Given the description of an element on the screen output the (x, y) to click on. 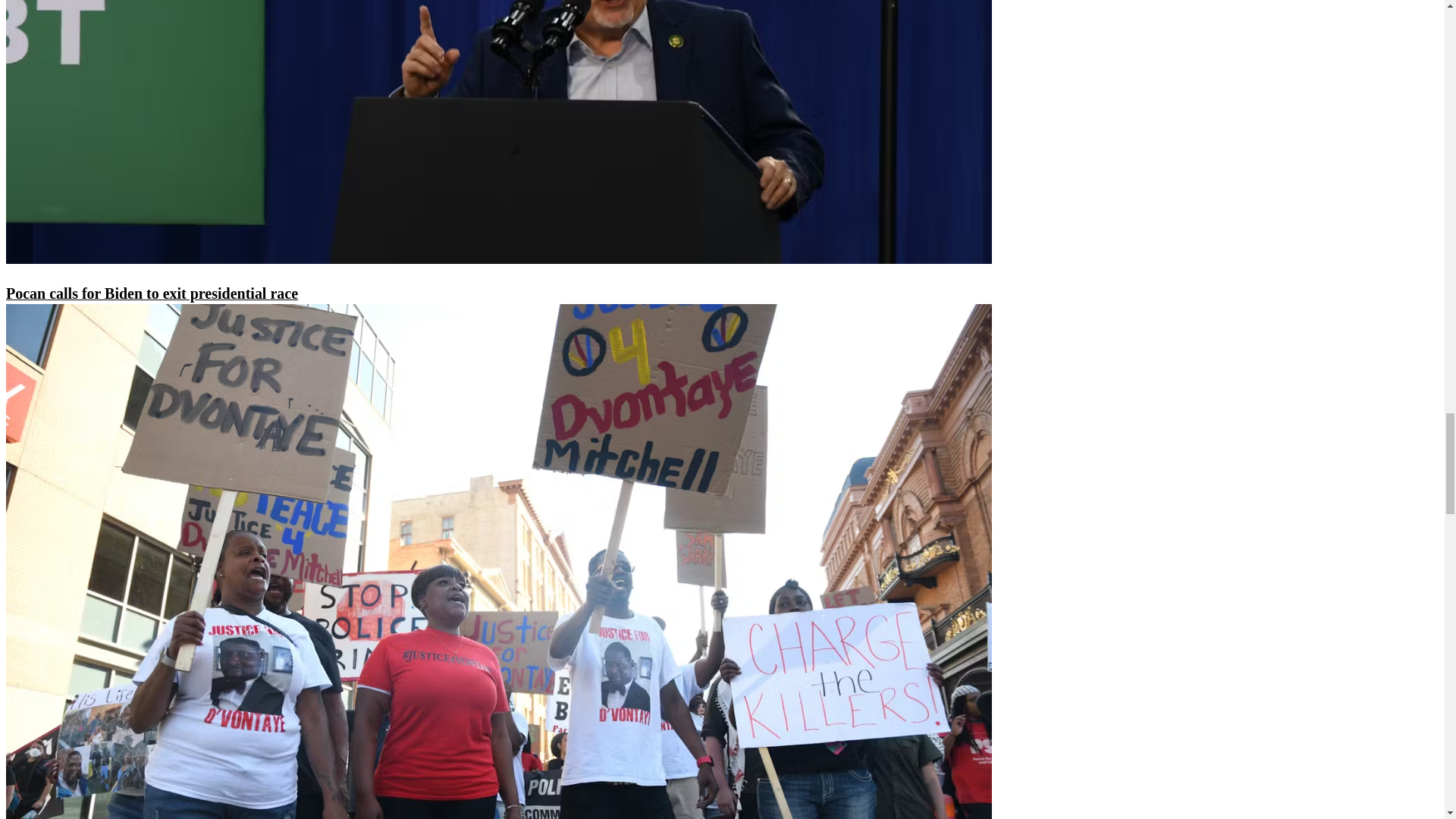
Pocan calls for Biden to exit presidential race  (151, 293)
